Given the description of an element on the screen output the (x, y) to click on. 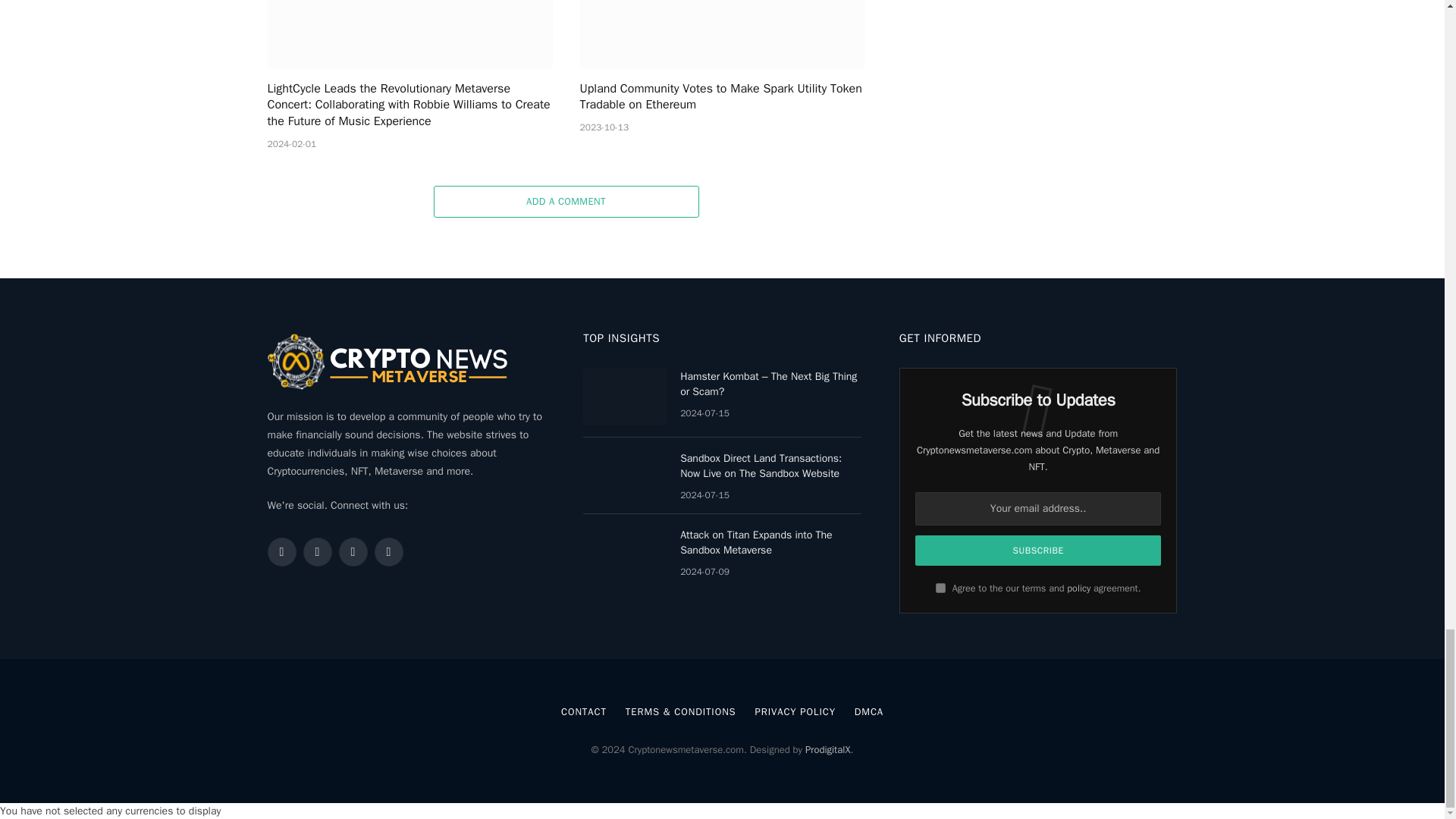
on (940, 587)
Subscribe (1038, 550)
